Given the description of an element on the screen output the (x, y) to click on. 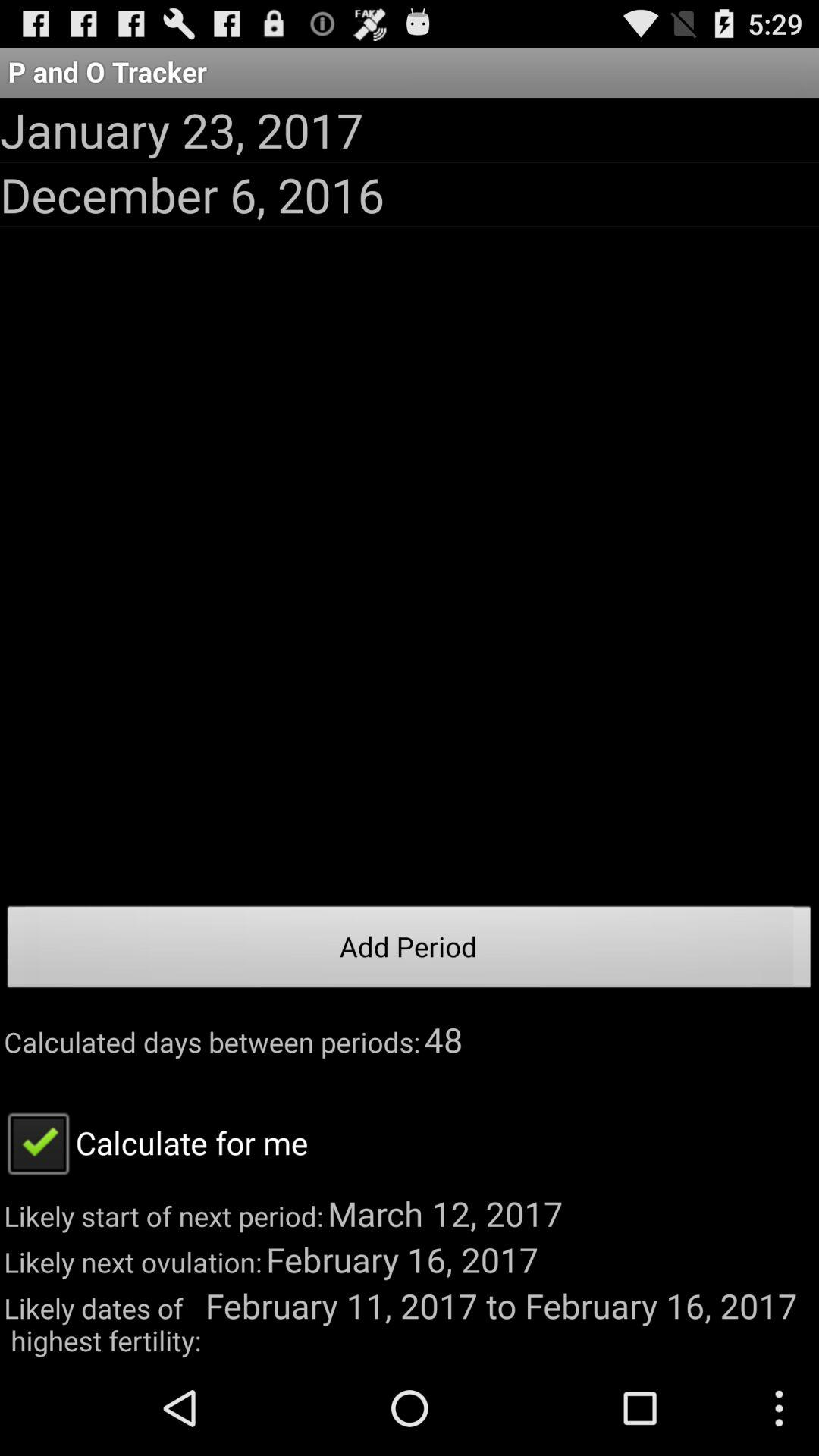
click icon above the add period (192, 194)
